Given the description of an element on the screen output the (x, y) to click on. 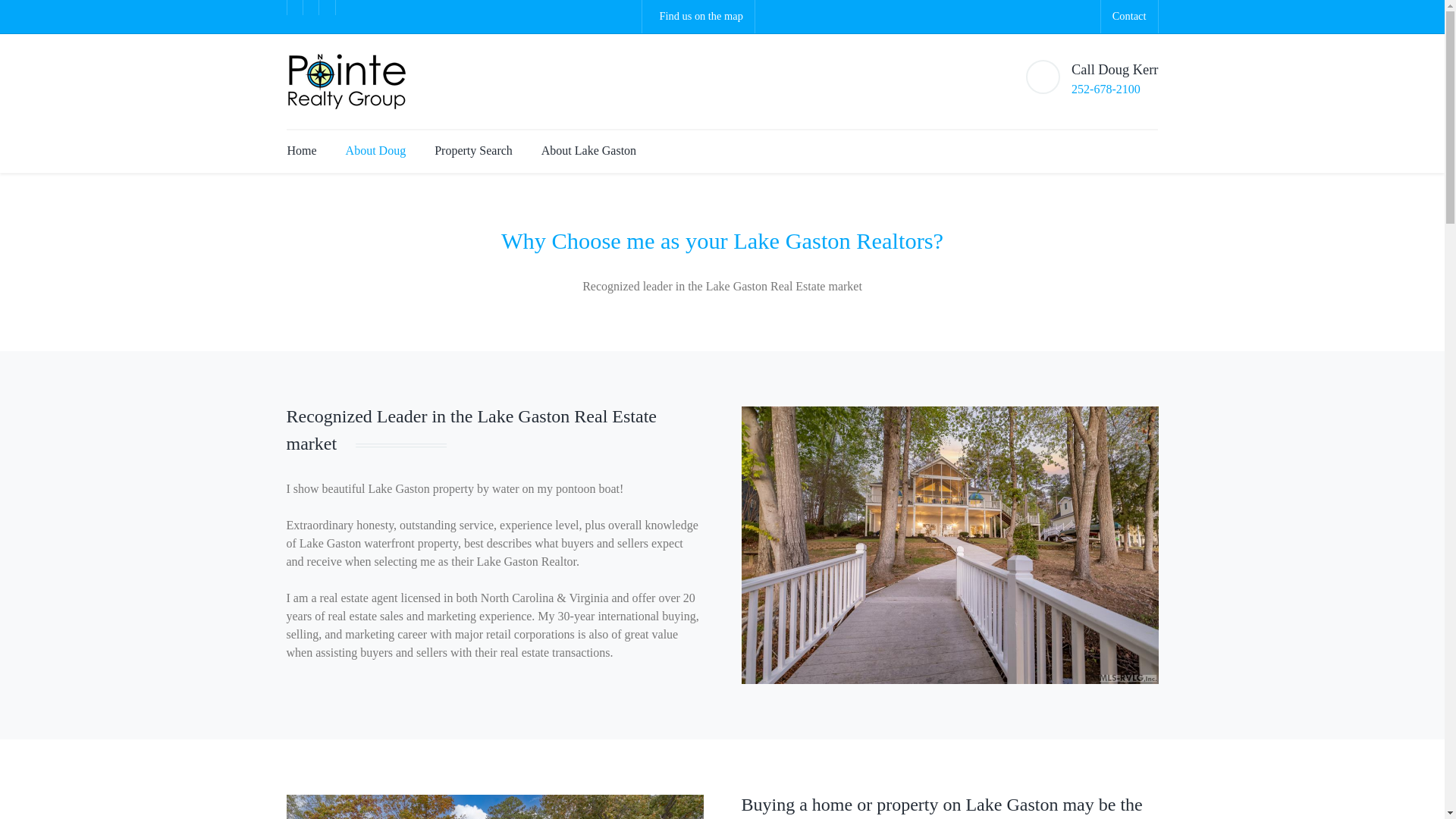
Property Search (473, 150)
About Doug (376, 150)
Linkedin (328, 7)
Twitter (310, 7)
Find us on the map (698, 16)
Find us on the map (791, 16)
Offcanvas (1154, 143)
Home (302, 150)
Contact (1129, 15)
252-678-2100 (1105, 88)
Login (1128, 143)
Search (1103, 143)
About Lake Gaston (582, 150)
Facebook (294, 7)
Lake Gaston Real Estate - Pointe Realty Group (352, 81)
